Given the description of an element on the screen output the (x, y) to click on. 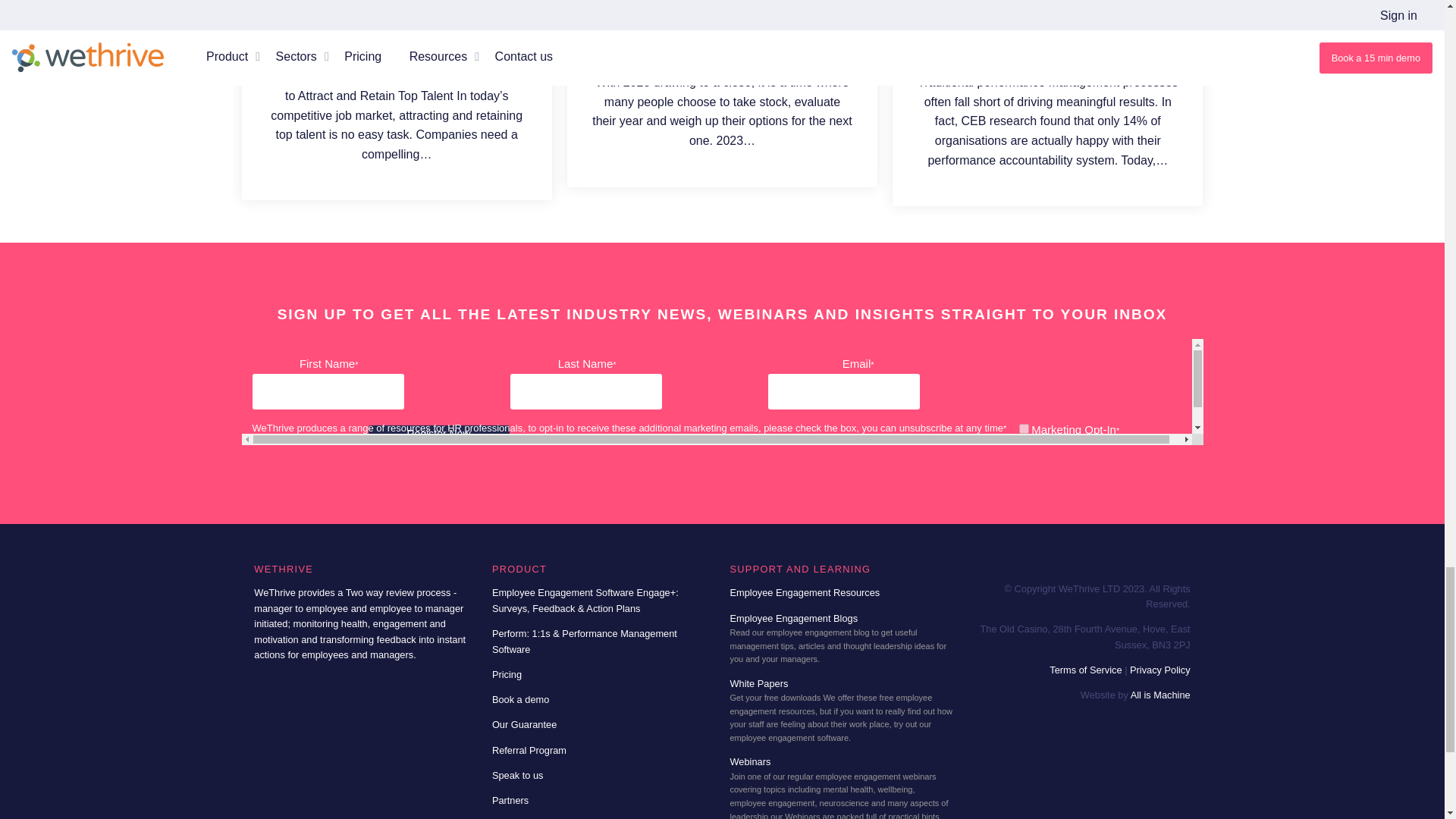
newsletter sign up wethrive (721, 392)
